Given the description of an element on the screen output the (x, y) to click on. 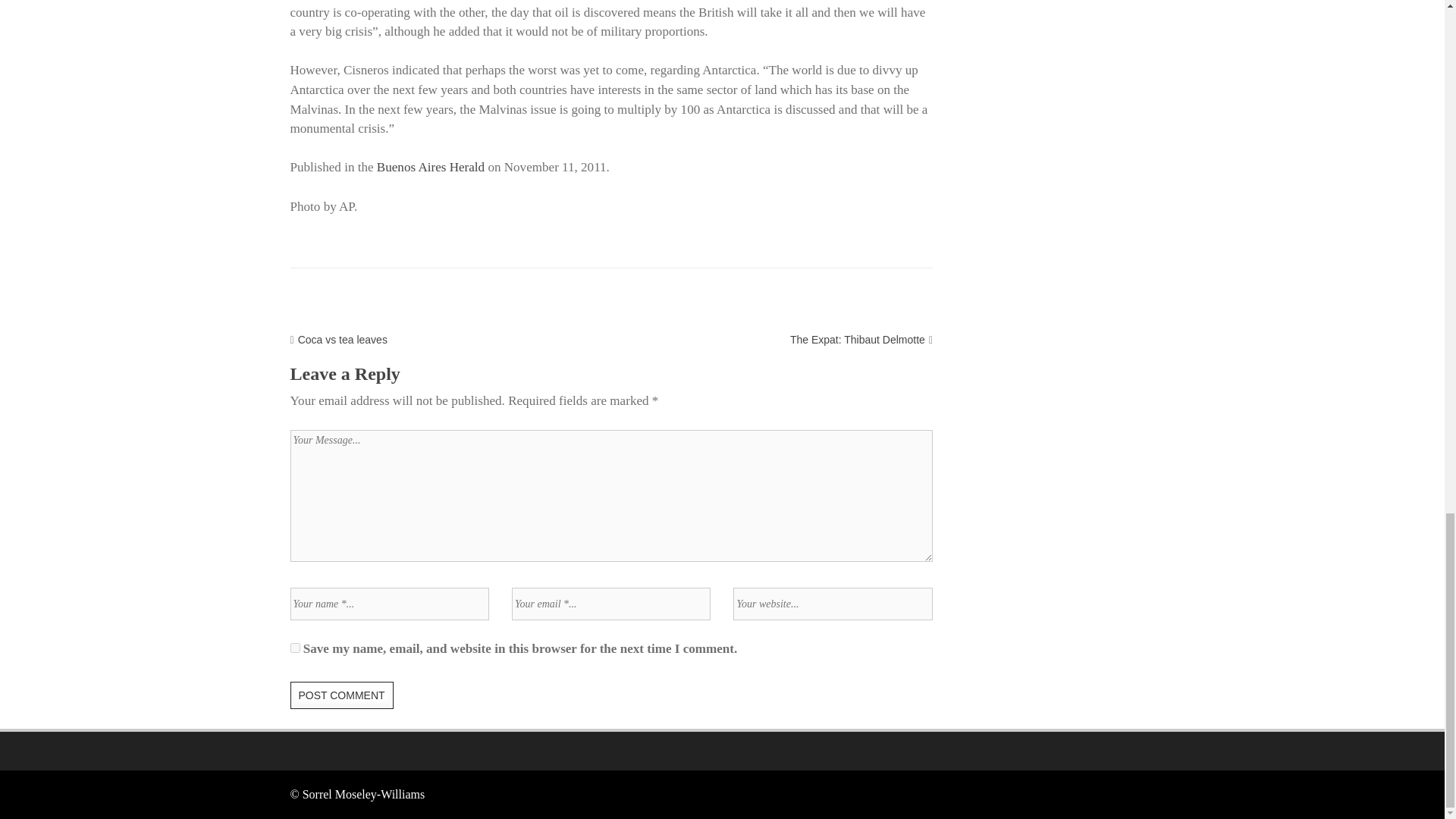
The Expat: Thibaut Delmotte (857, 339)
Post Comment (341, 695)
Buenos Aires Herald (430, 166)
Post Comment (341, 695)
yes (294, 647)
Coca vs tea leaves (342, 339)
